Given the description of an element on the screen output the (x, y) to click on. 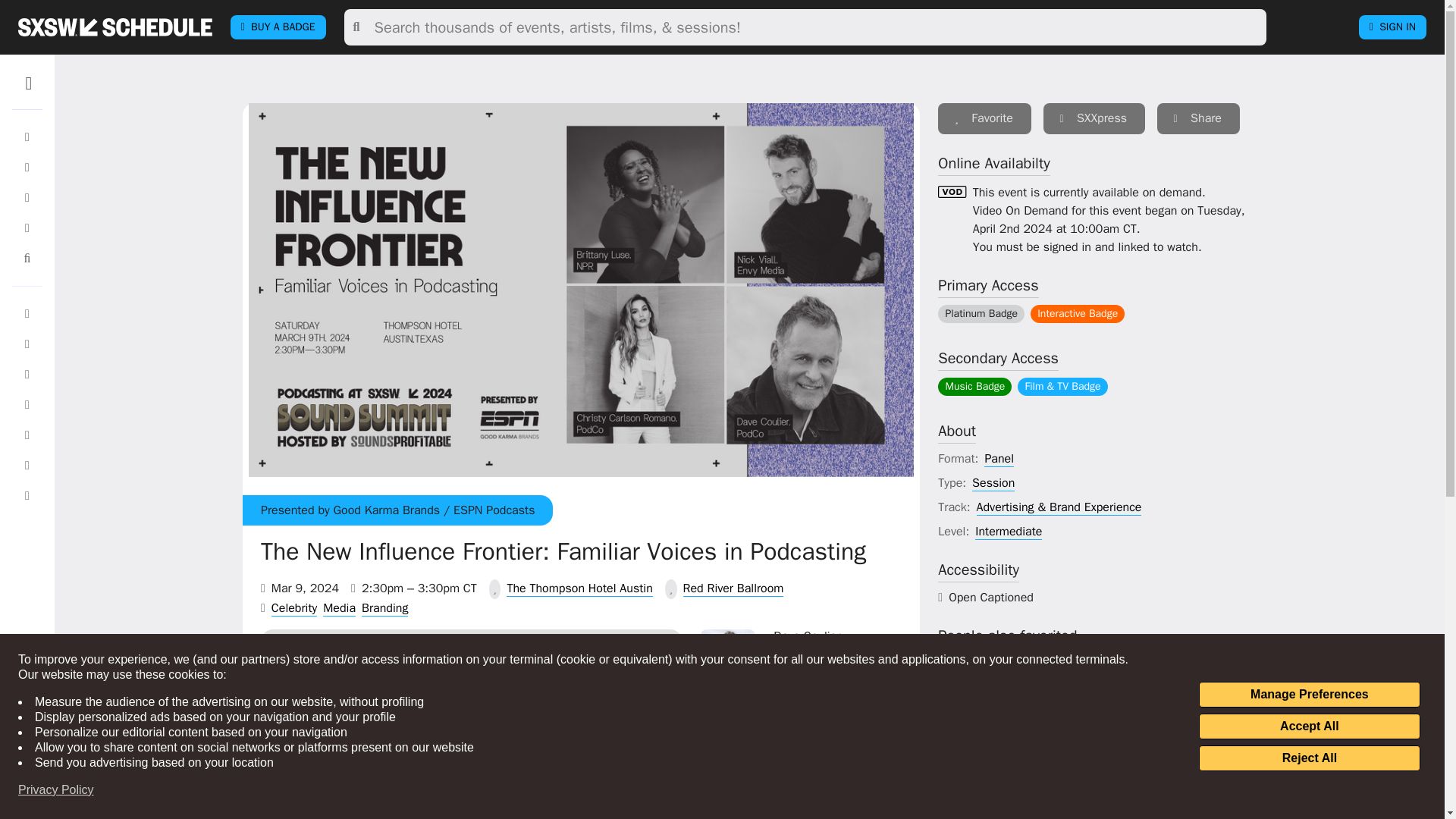
Reject All (1309, 758)
The Thompson Hotel Austin (579, 588)
Accept All (1309, 726)
sxsw SCHEDULE (114, 27)
Sign In to add to your favorites. (945, 811)
Privacy Policy (55, 789)
Sign In to add to your favorites. (983, 118)
SIGN IN (1392, 27)
Sign In to add to your favorites. (818, 751)
Sign In to add to your favorites. (818, 675)
Sign In to add to your favorites. (818, 817)
BUY A BADGE (278, 27)
Manage Preferences (1309, 694)
